Given the description of an element on the screen output the (x, y) to click on. 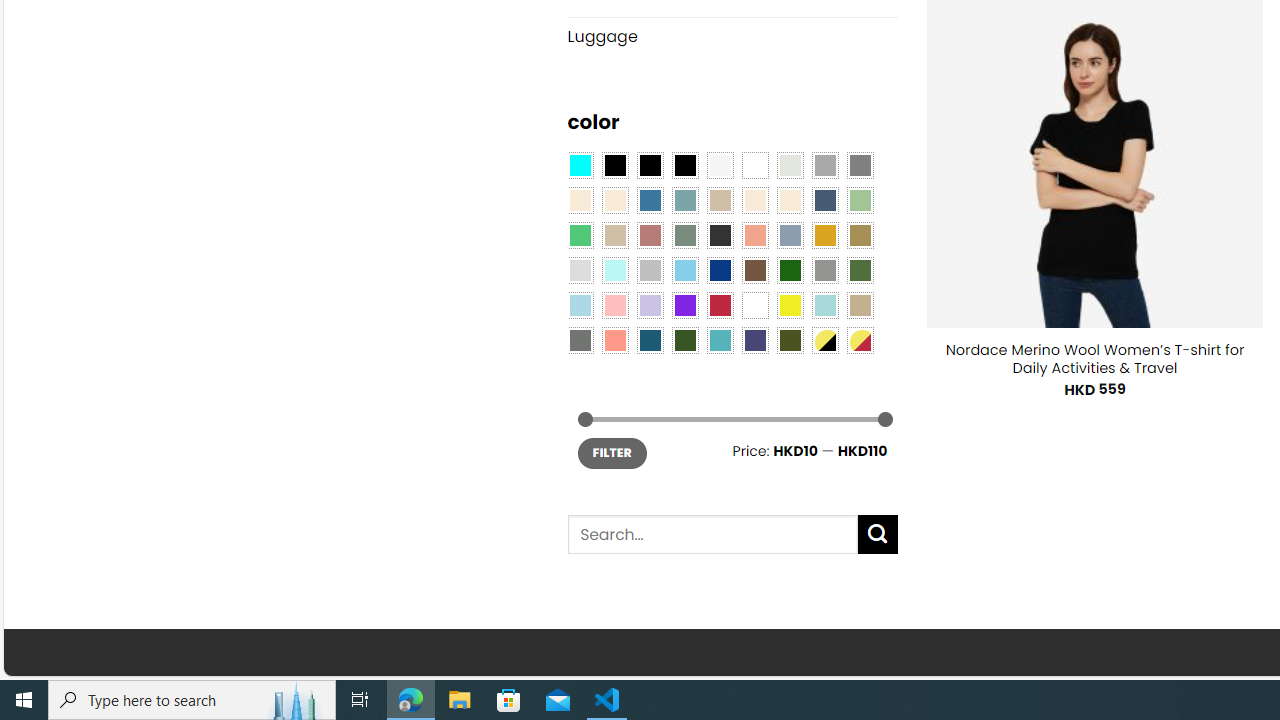
Brown (755, 269)
Aqua Blue (579, 164)
Luggage (732, 37)
Aqua (824, 305)
Cream (789, 200)
All Gray (859, 164)
Dull Nickle (579, 339)
Sage (684, 234)
Green (859, 269)
Blue Sage (684, 200)
Light Gray (579, 269)
Light Taupe (614, 234)
Silver (650, 269)
Teal (719, 339)
Brownie (719, 200)
